Given the description of an element on the screen output the (x, y) to click on. 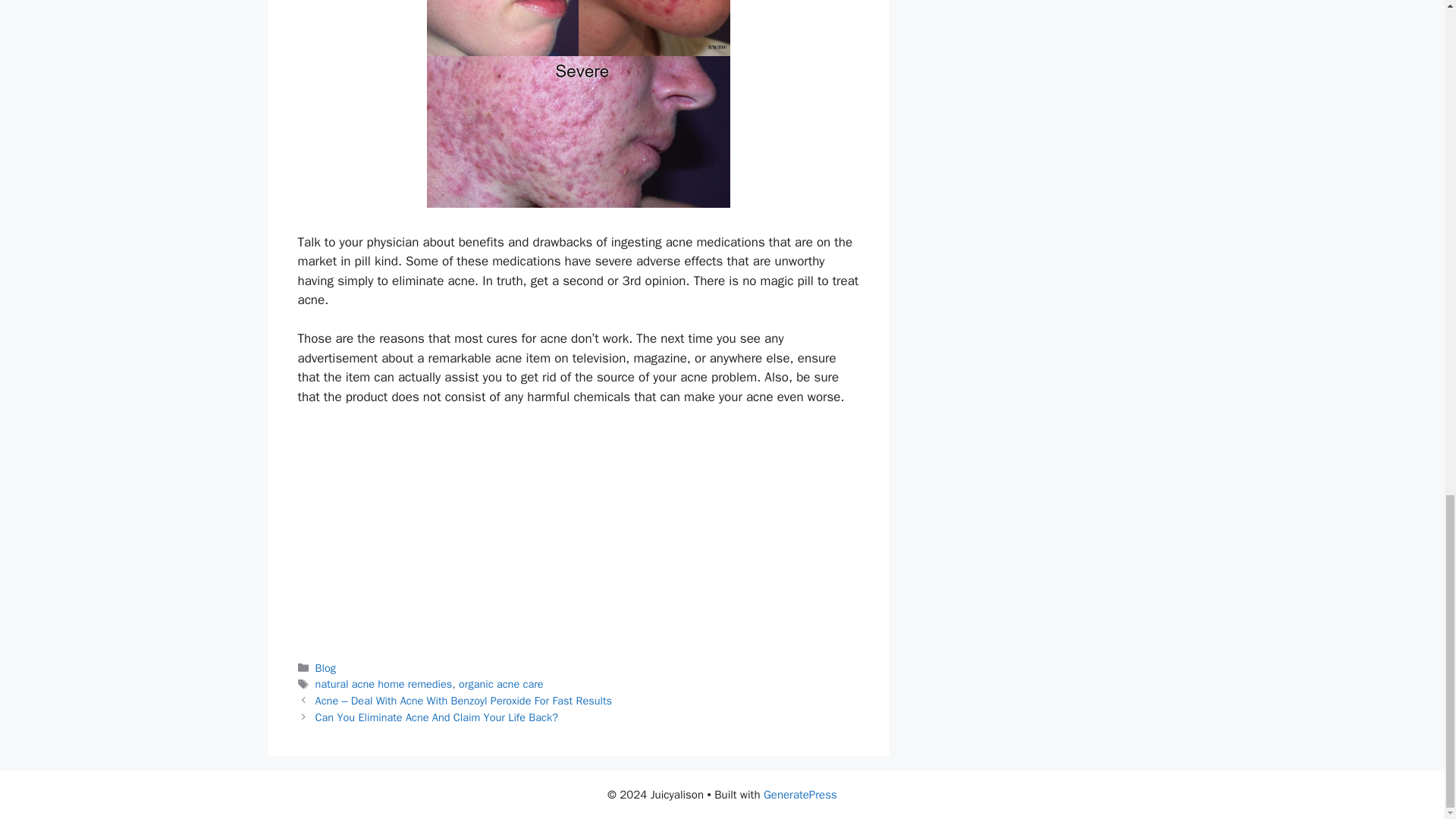
Advertisement (576, 531)
